Given the description of an element on the screen output the (x, y) to click on. 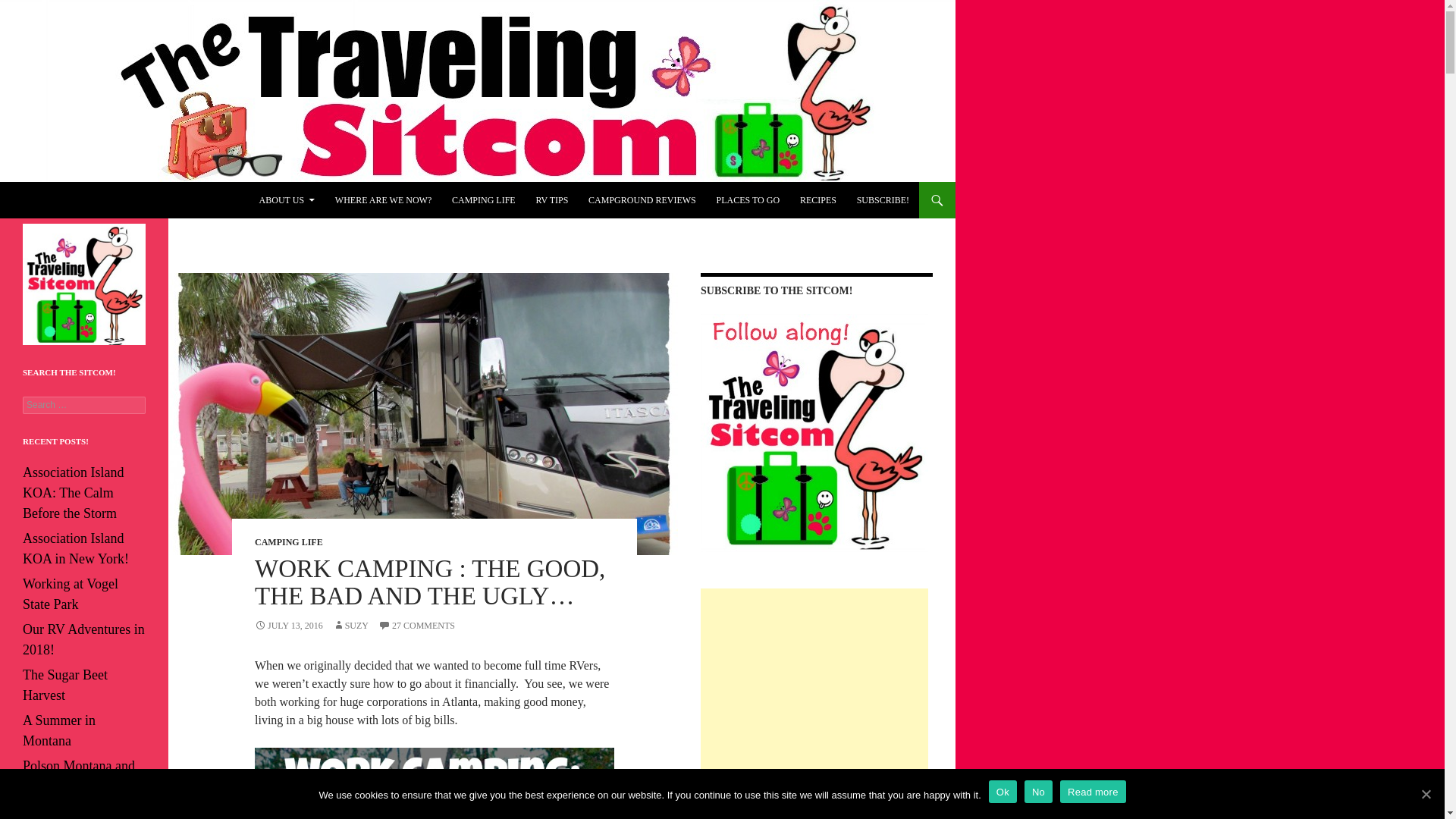
27 COMMENTS (416, 624)
Subscribe! (882, 199)
JULY 13, 2016 (288, 624)
Advertisement (814, 683)
PLACES TO GO (748, 199)
RV TIPS (550, 199)
CAMPING LIFE (288, 542)
ABOUT US (286, 199)
SUBSCRIBE! (882, 199)
